Given the description of an element on the screen output the (x, y) to click on. 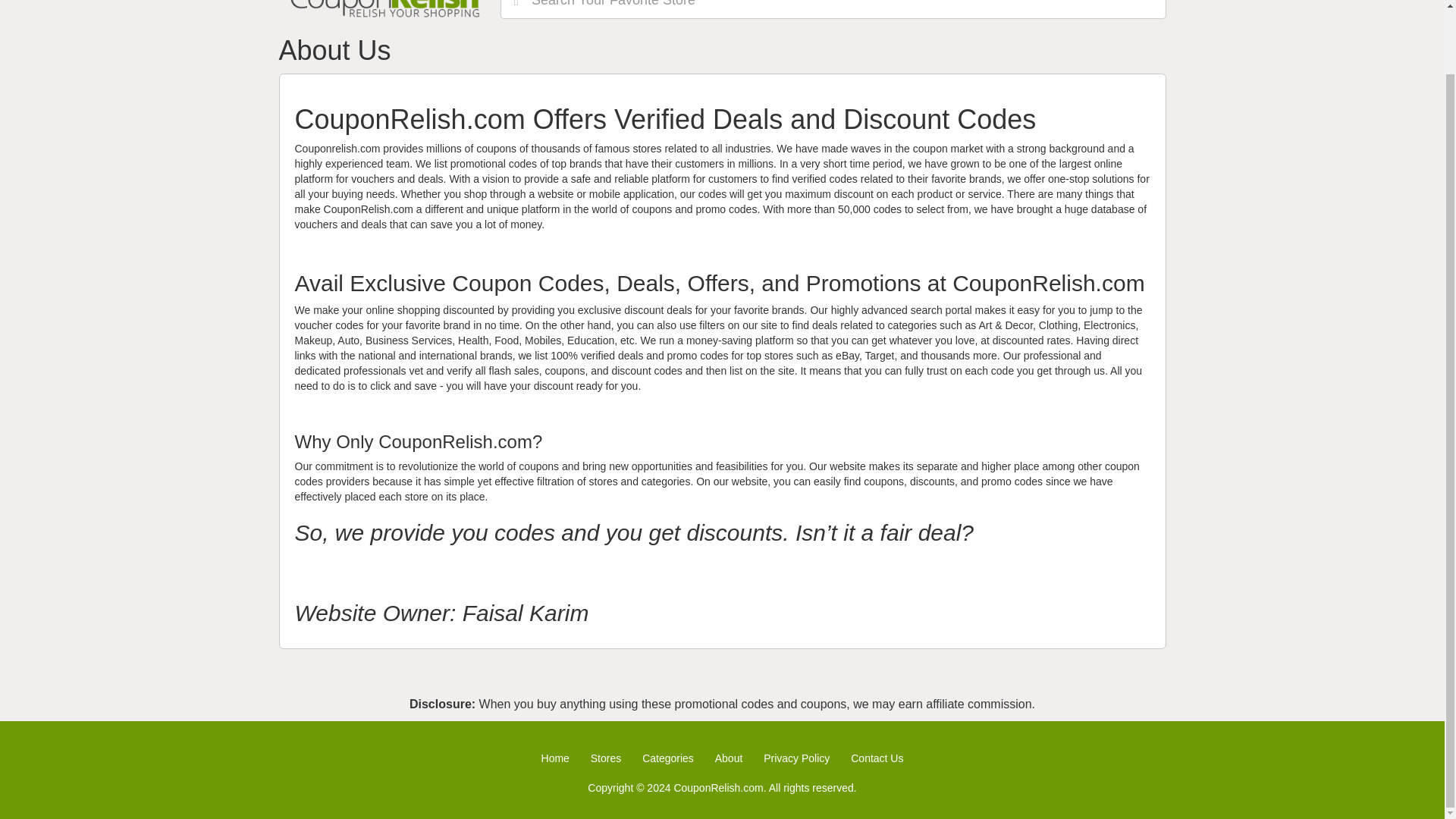
Home (555, 758)
Stores (606, 758)
Search (516, 7)
About (728, 758)
Contact Us (876, 758)
Privacy Policy (795, 758)
Categories (668, 758)
